Given the description of an element on the screen output the (x, y) to click on. 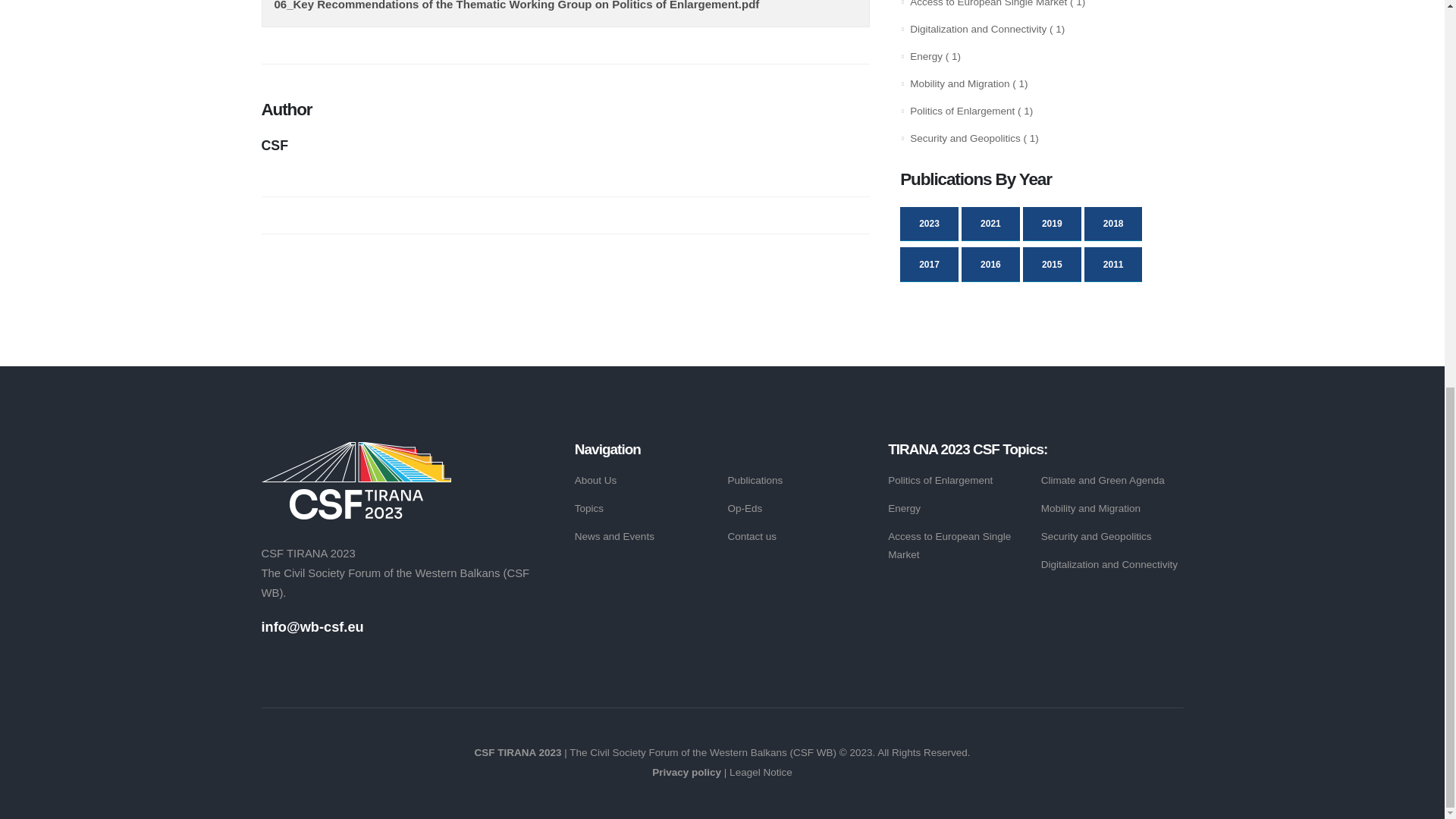
CSF (564, 144)
2019 (1052, 223)
2023 (928, 223)
2021 (990, 223)
